Given the description of an element on the screen output the (x, y) to click on. 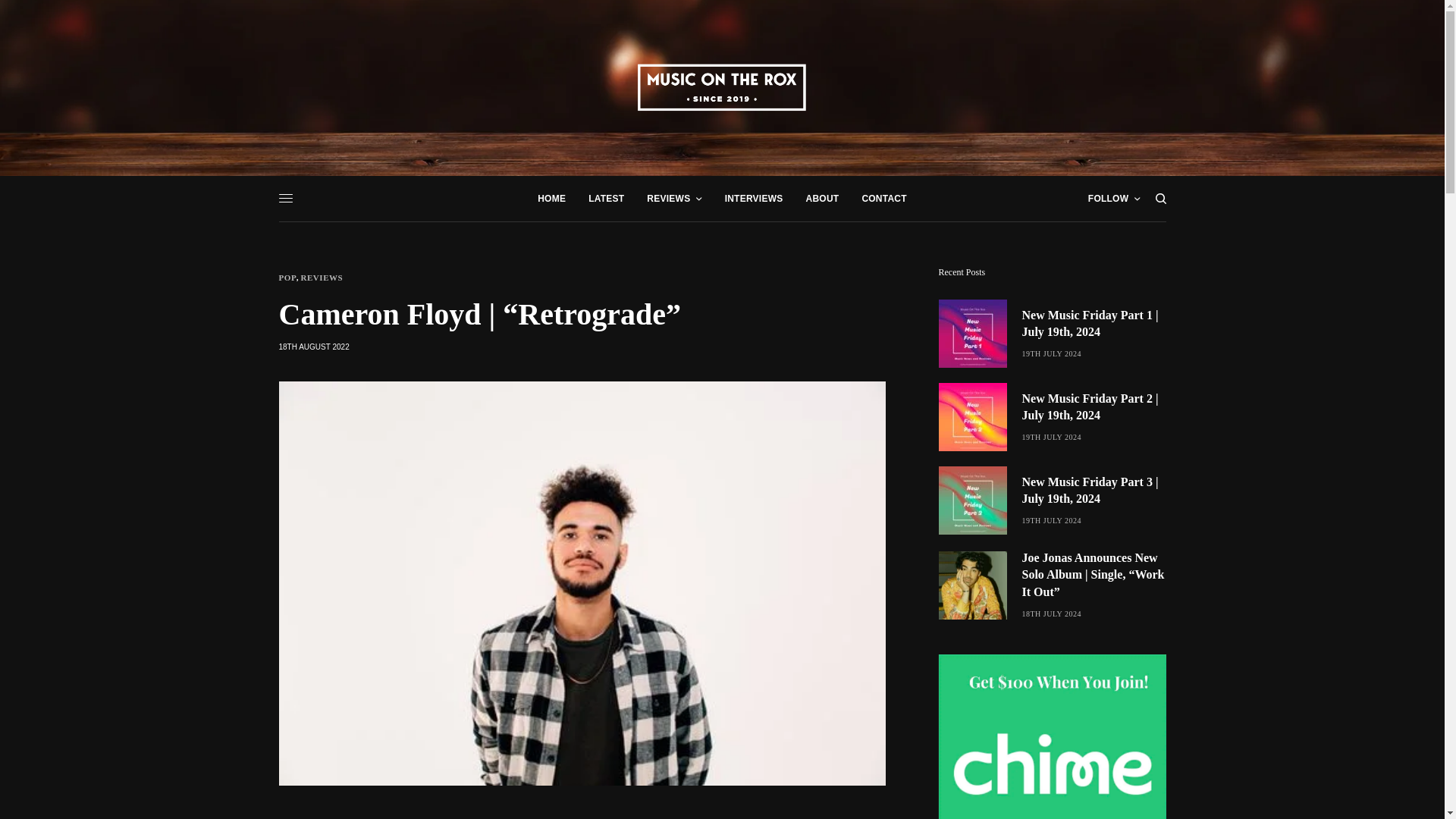
REVIEWS (673, 198)
